Given the description of an element on the screen output the (x, y) to click on. 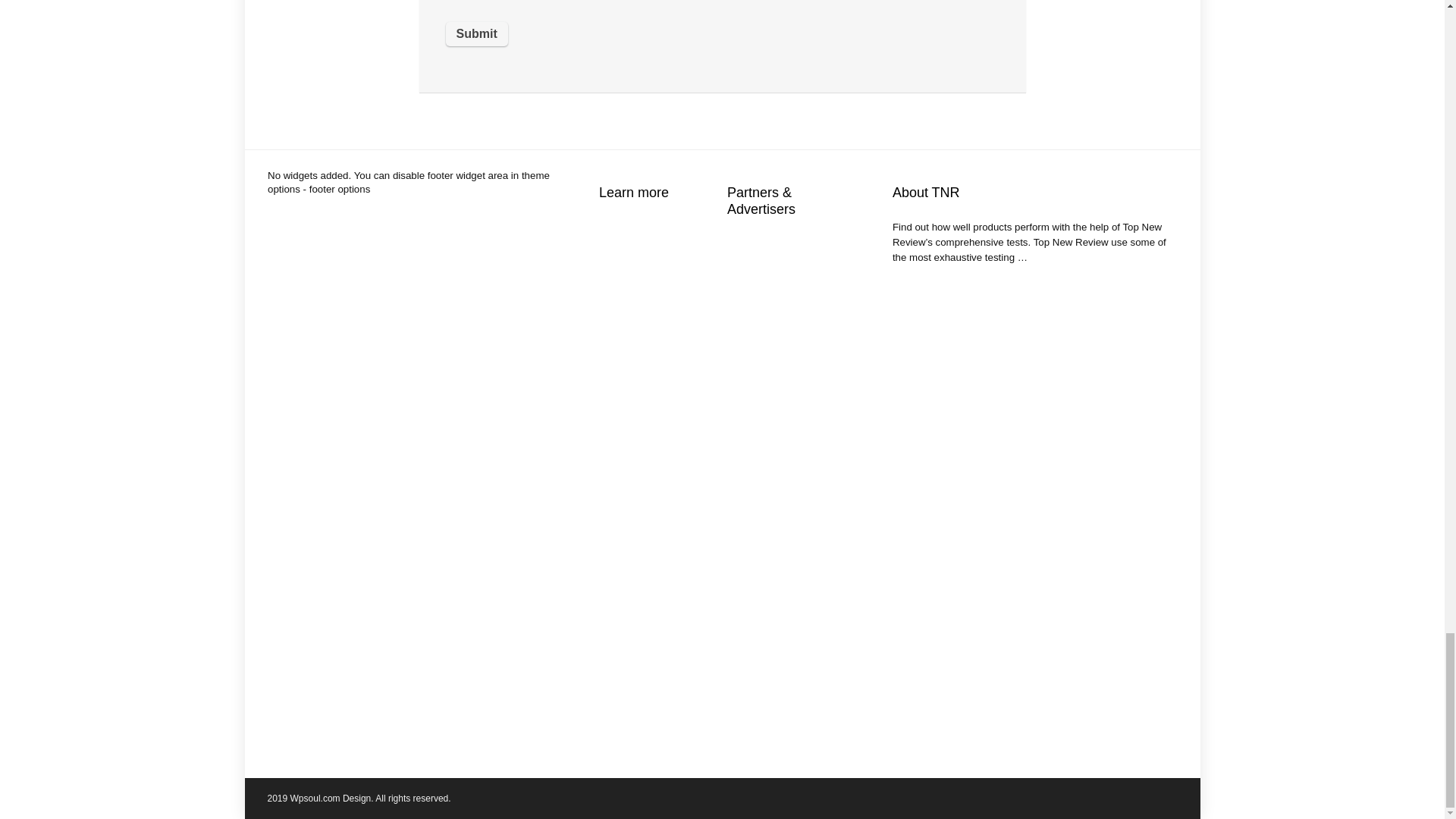
Submit (476, 33)
Submit (476, 33)
